Given the description of an element on the screen output the (x, y) to click on. 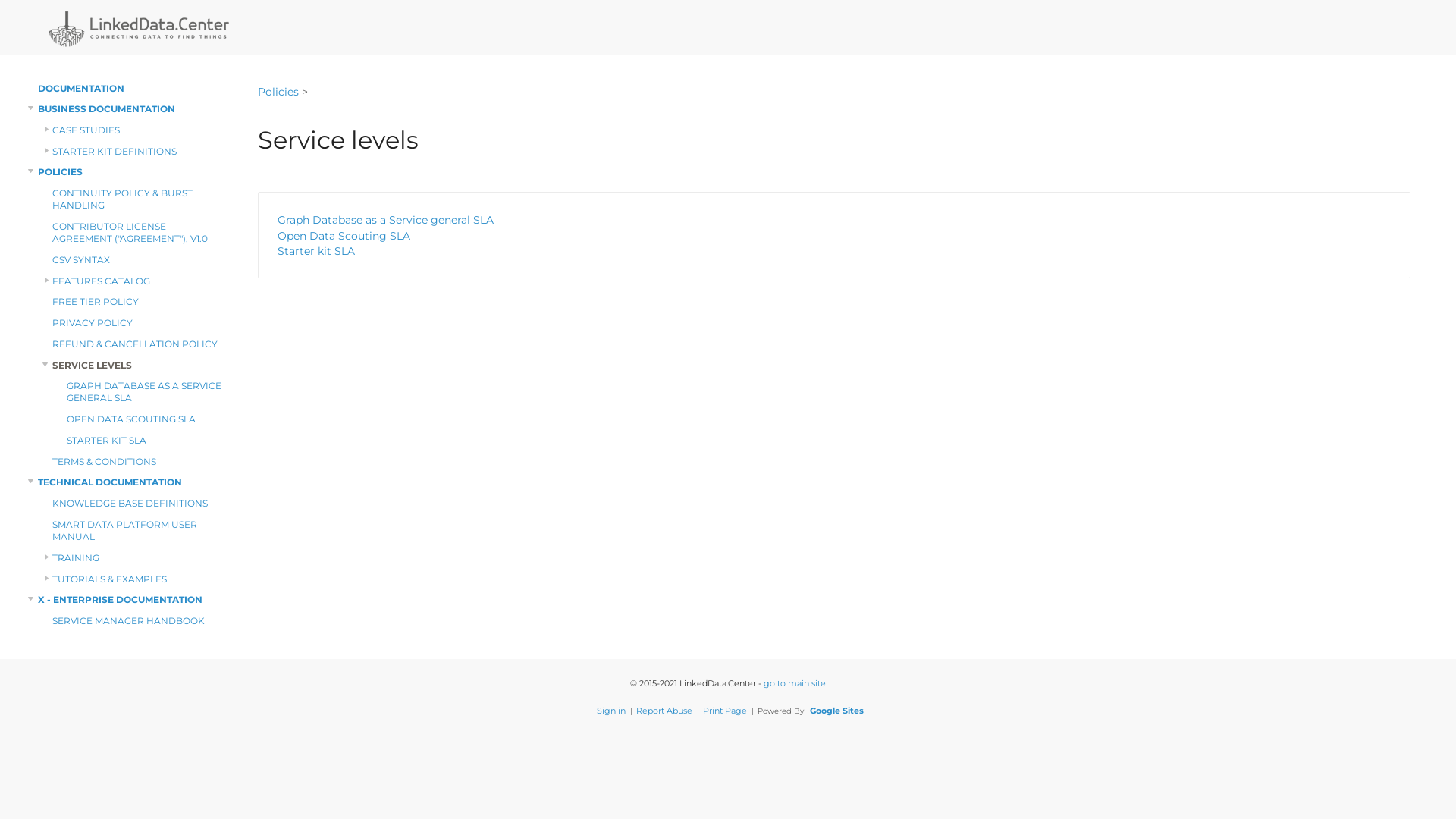
go to main site Element type: text (794, 682)
REFUND & CANCELLATION POLICY Element type: text (139, 344)
PRIVACY POLICY Element type: text (139, 322)
STARTER KIT SLA Element type: text (146, 440)
STARTER KIT DEFINITIONS Element type: text (139, 151)
Google Sites Element type: text (836, 710)
DOCUMENTATION Element type: text (132, 88)
Open Data Scouting SLA Element type: text (835, 236)
CONTINUITY POLICY & BURST HANDLING Element type: text (139, 199)
X - ENTERPRISE DOCUMENTATION Element type: text (132, 599)
Report Abuse Element type: text (664, 710)
SERVICE MANAGER HANDBOOK Element type: text (139, 621)
BUSINESS DOCUMENTATION Element type: text (132, 109)
Sign in Element type: text (610, 710)
Starter kit SLA Element type: text (835, 251)
TERMS & CONDITIONS Element type: text (139, 461)
KNOWLEDGE BASE DEFINITIONS Element type: text (139, 503)
OPEN DATA SCOUTING SLA Element type: text (146, 419)
Print Page Element type: text (724, 710)
GRAPH DATABASE AS A SERVICE GENERAL SLA Element type: text (146, 391)
TRAINING Element type: text (139, 558)
FREE TIER POLICY Element type: text (139, 301)
CASE STUDIES Element type: text (139, 130)
FEATURES CATALOG Element type: text (139, 281)
TUTORIALS & EXAMPLES Element type: text (139, 579)
SMART DATA PLATFORM USER MANUAL Element type: text (139, 530)
POLICIES Element type: text (132, 172)
CONTRIBUTOR LICENSE AGREEMENT ("AGREEMENT"), V1.0 Element type: text (139, 232)
Graph Database as a Service general SLA Element type: text (835, 220)
CSV SYNTAX Element type: text (139, 260)
TECHNICAL DOCUMENTATION Element type: text (132, 482)
Policies Element type: text (277, 79)
